Given the description of an element on the screen output the (x, y) to click on. 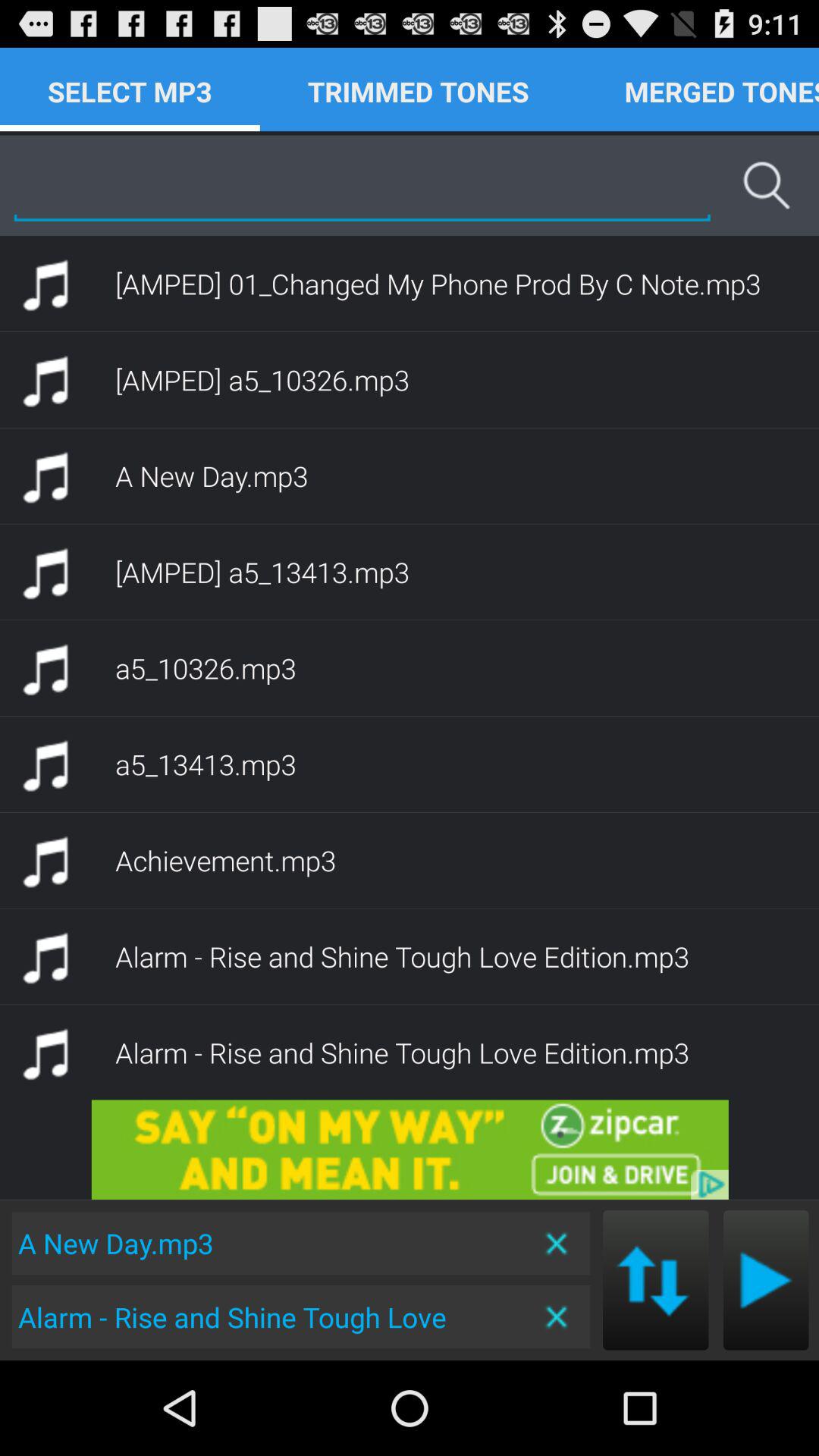
go to next mp3 (655, 1280)
